Given the description of an element on the screen output the (x, y) to click on. 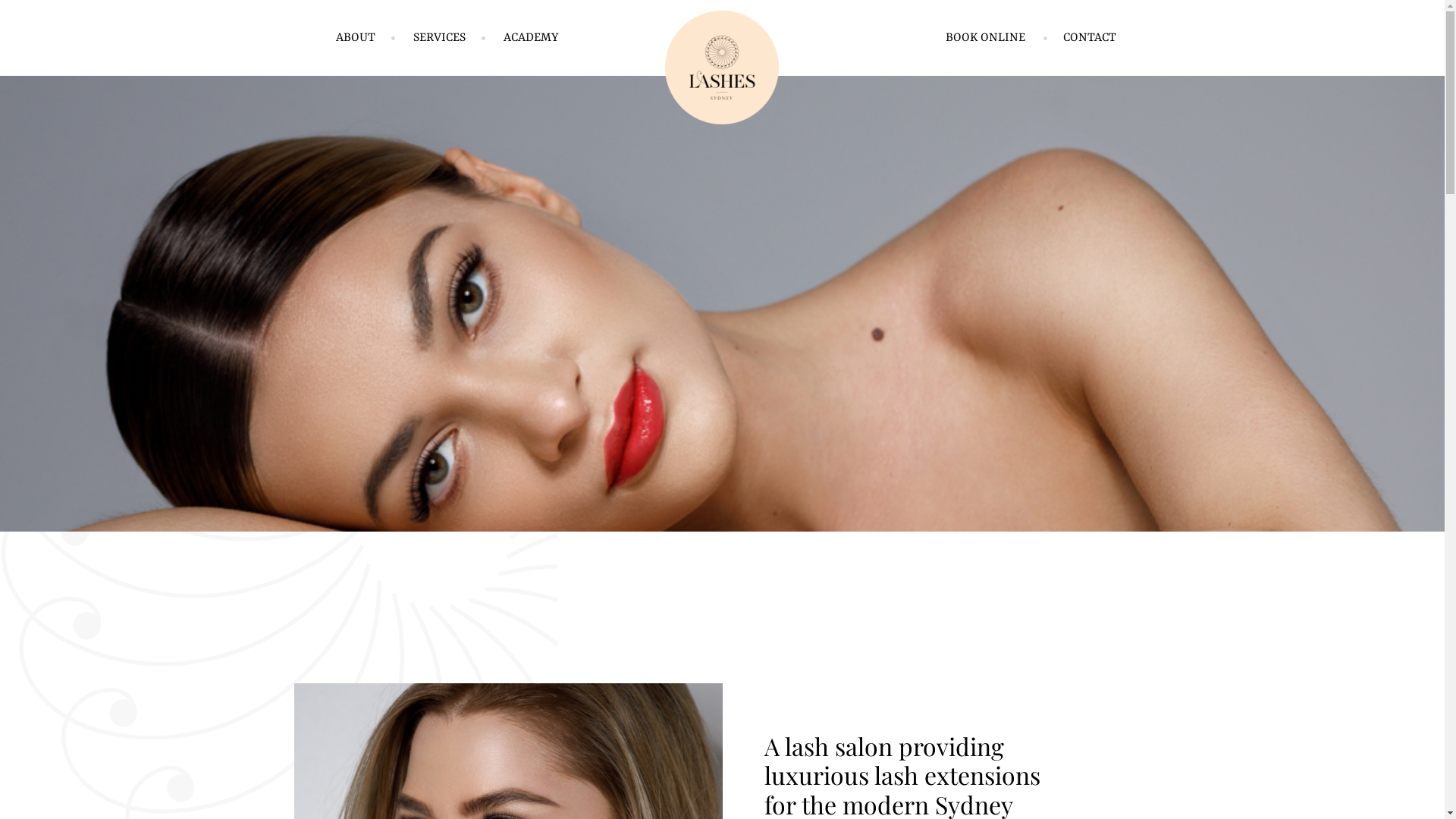
SERVICES Element type: text (438, 37)
ABOUT Element type: text (354, 37)
CONTACT Element type: text (1089, 37)
ACADEMY Element type: text (530, 37)
BOOK ONLINE Element type: text (985, 37)
